Given the description of an element on the screen output the (x, y) to click on. 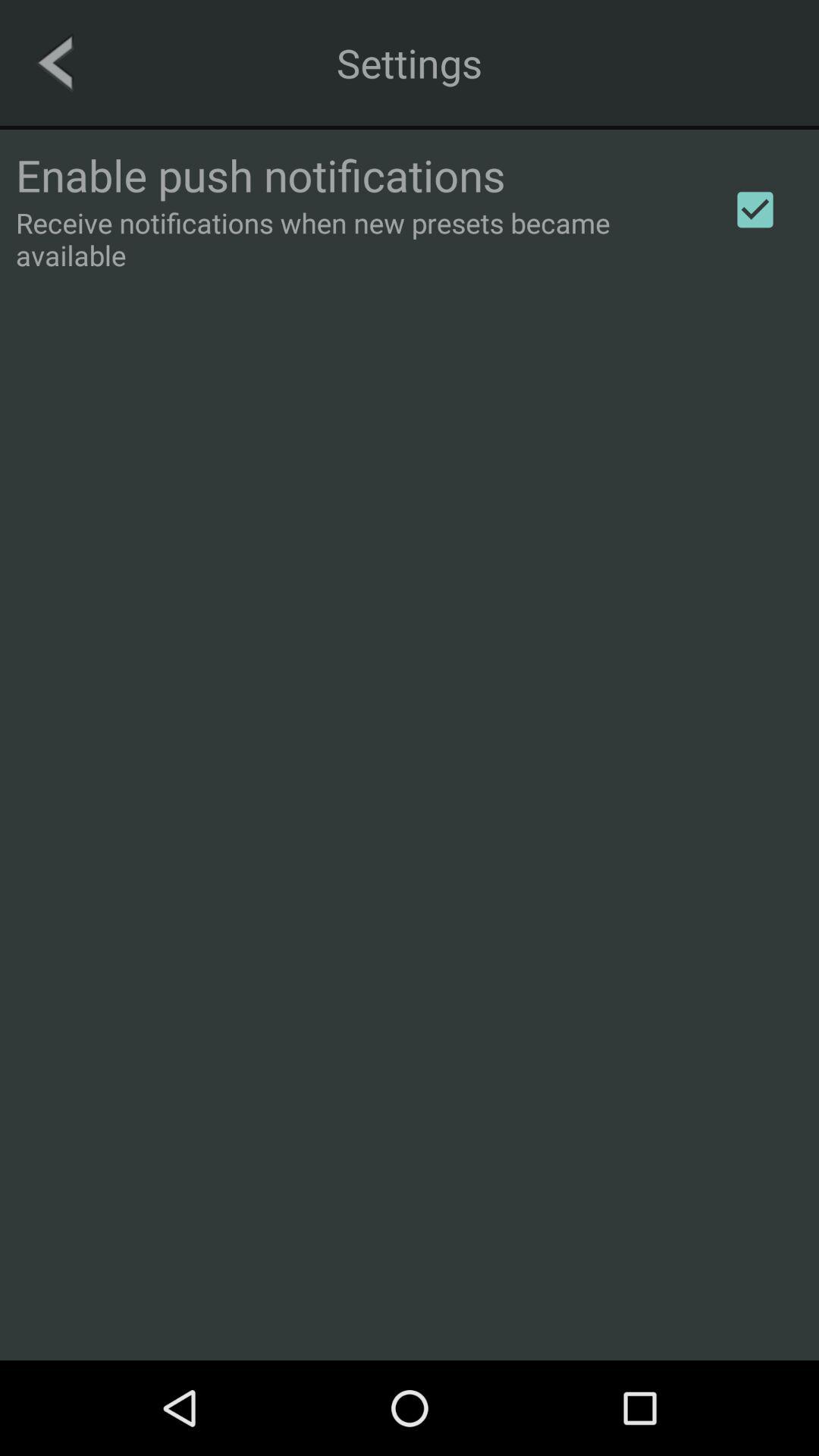
launch icon at the top left corner (54, 62)
